Given the description of an element on the screen output the (x, y) to click on. 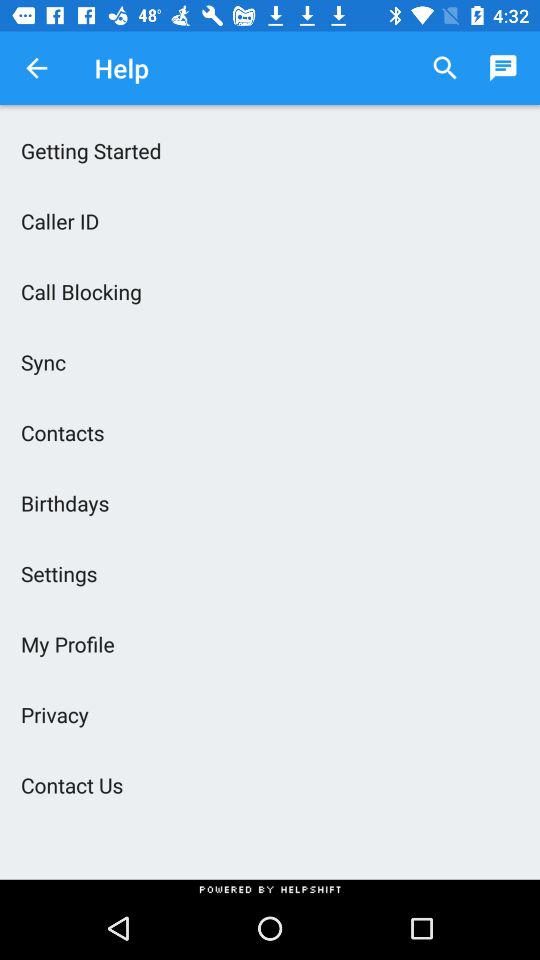
jump until sync item (270, 361)
